Given the description of an element on the screen output the (x, y) to click on. 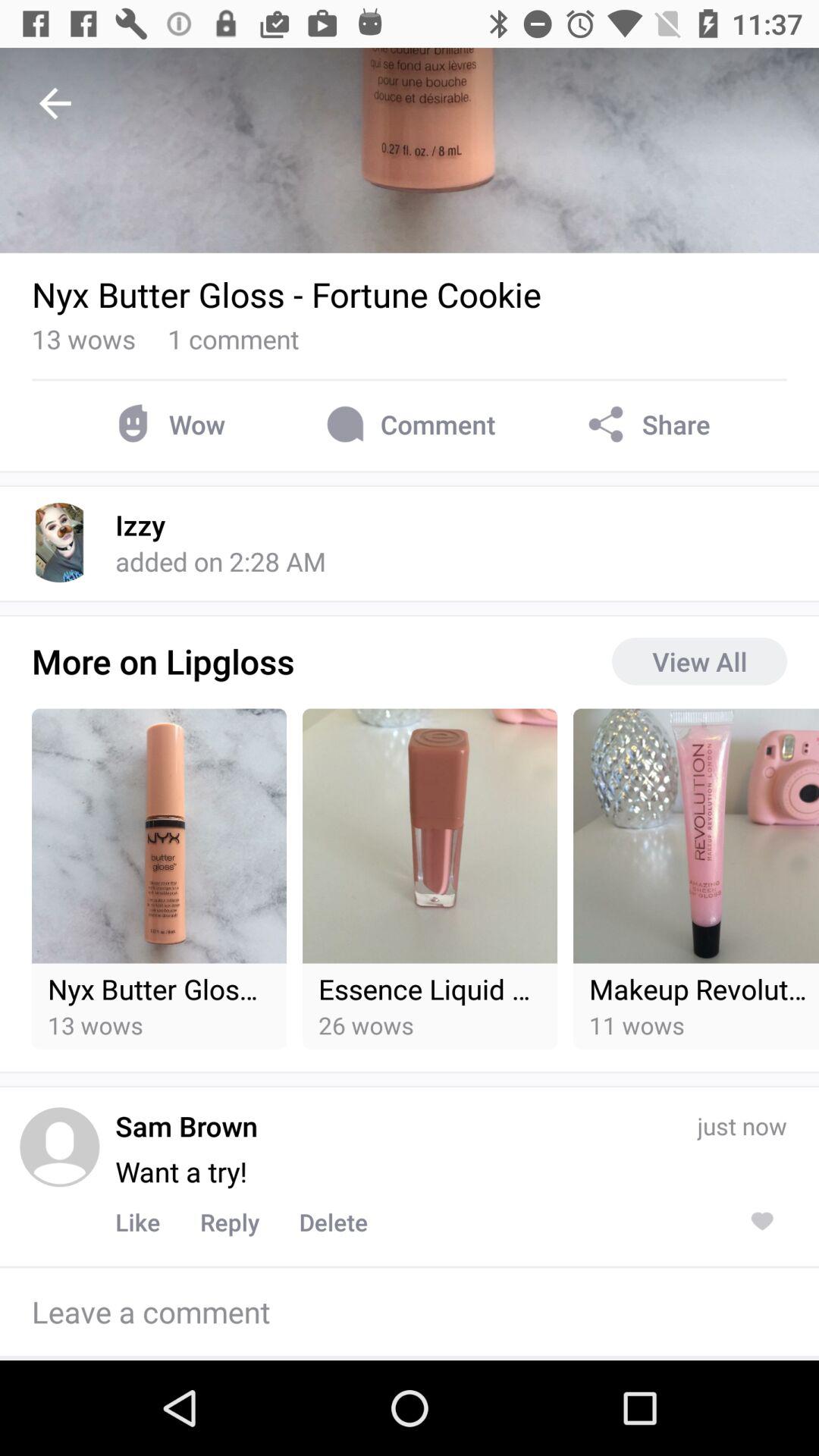
open the item next to sam brown icon (59, 1146)
